Given the description of an element on the screen output the (x, y) to click on. 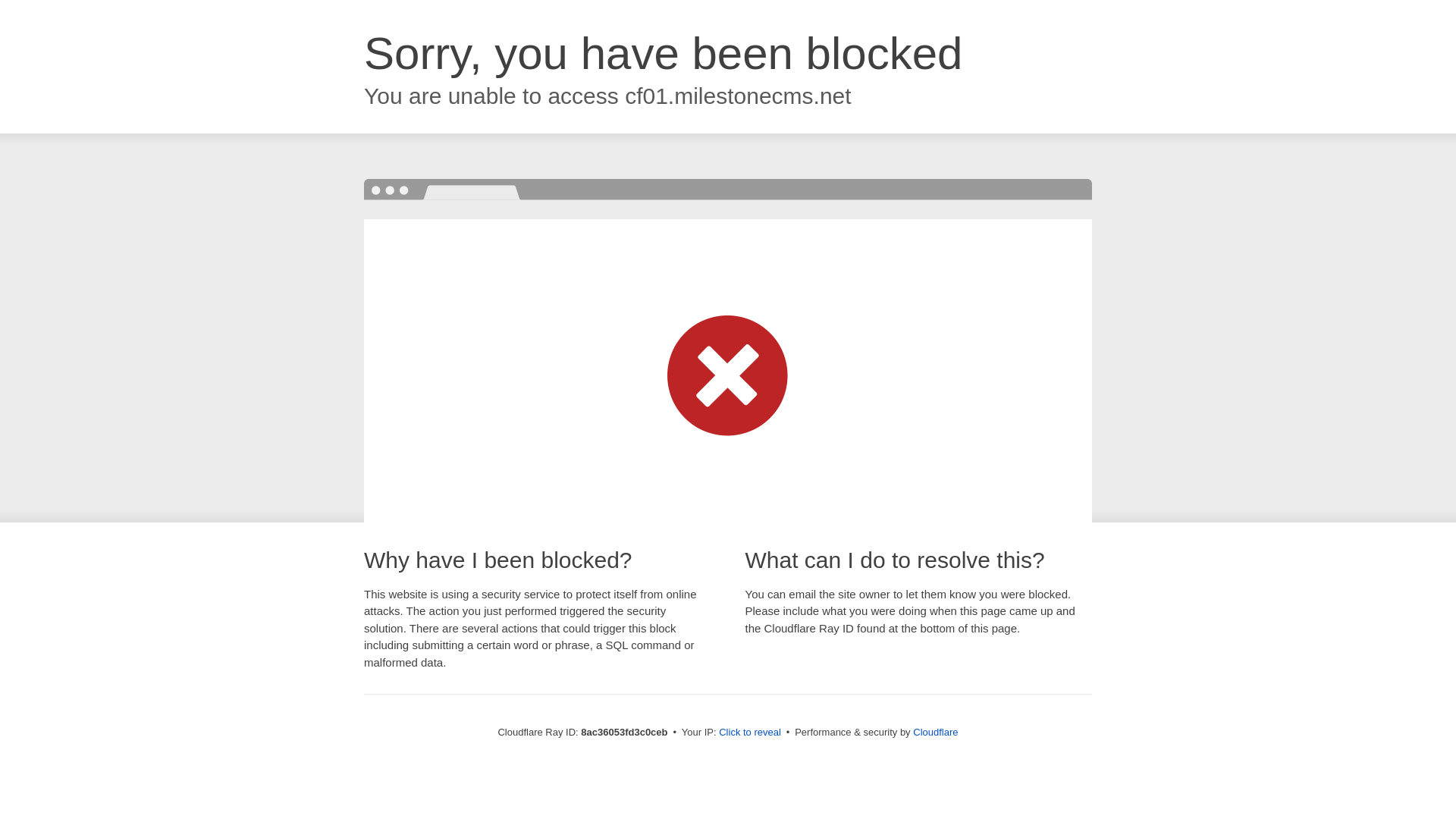
Click to reveal (749, 732)
Cloudflare (935, 731)
